Given the description of an element on the screen output the (x, y) to click on. 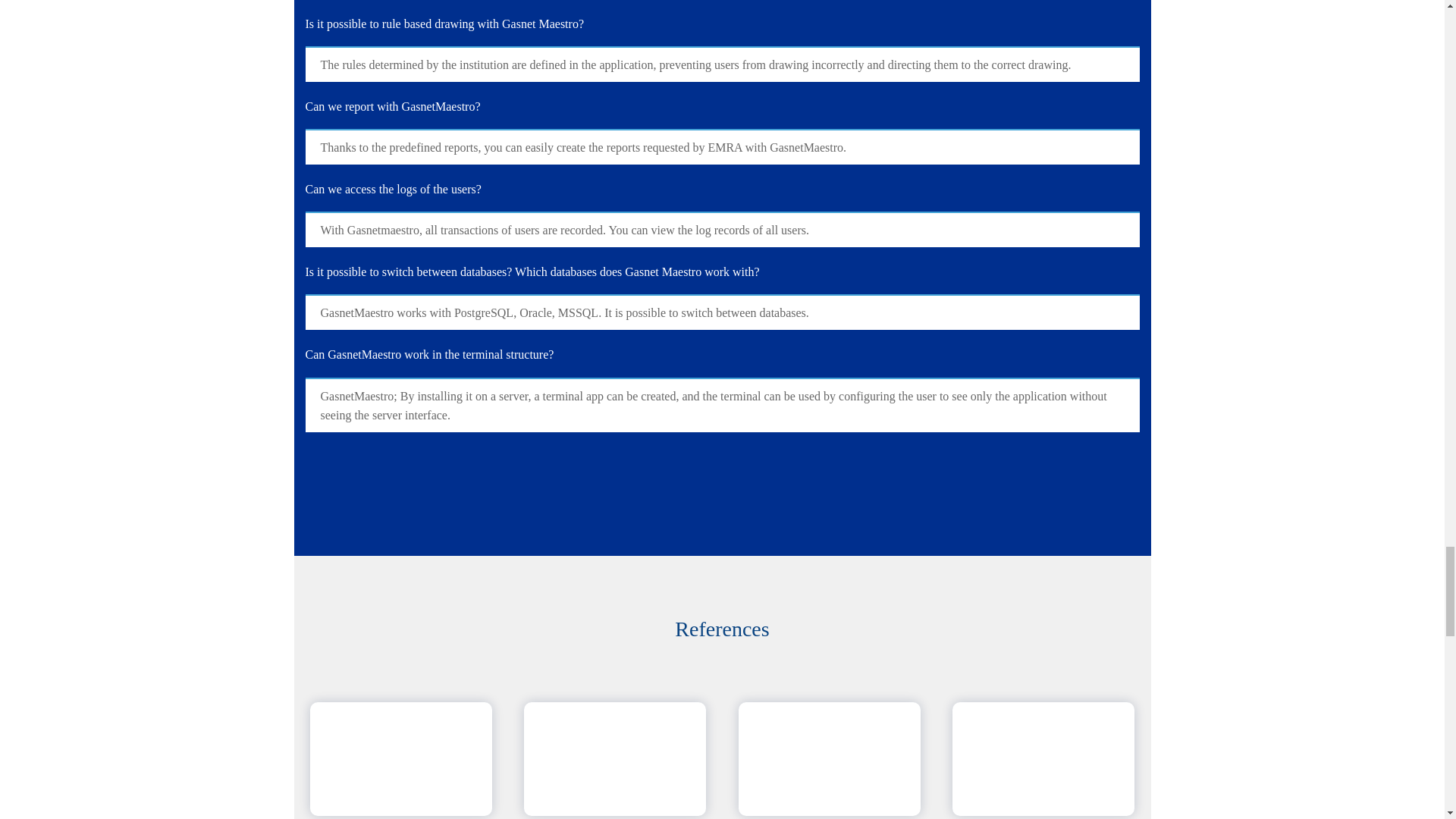
enerya-rfsr (400, 758)
corumgaz-rfsr (829, 758)
kargaz-rfsr (614, 758)
